Given the description of an element on the screen output the (x, y) to click on. 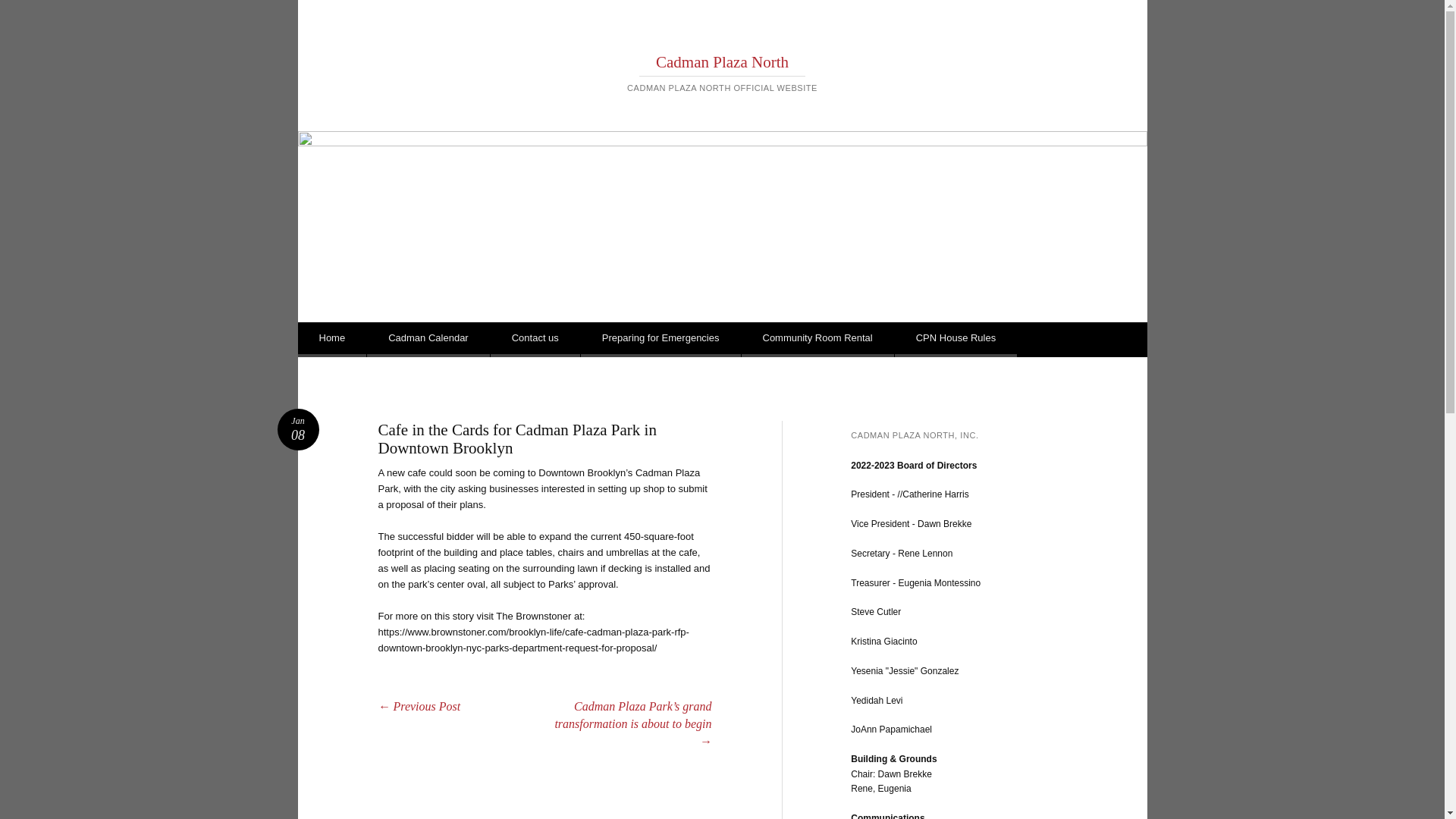
Community Room Rental Element type: text (817, 339)
CPN House Rules Element type: text (955, 339)
Home Element type: text (331, 339)
Jan
08 Element type: text (298, 429)
Cadman Calendar Element type: text (428, 339)
Contact us Element type: text (535, 339)
Preparing for Emergencies Element type: text (660, 339)
Skip to content Element type: text (350, 339)
Cadman Plaza North Element type: text (721, 62)
